Given the description of an element on the screen output the (x, y) to click on. 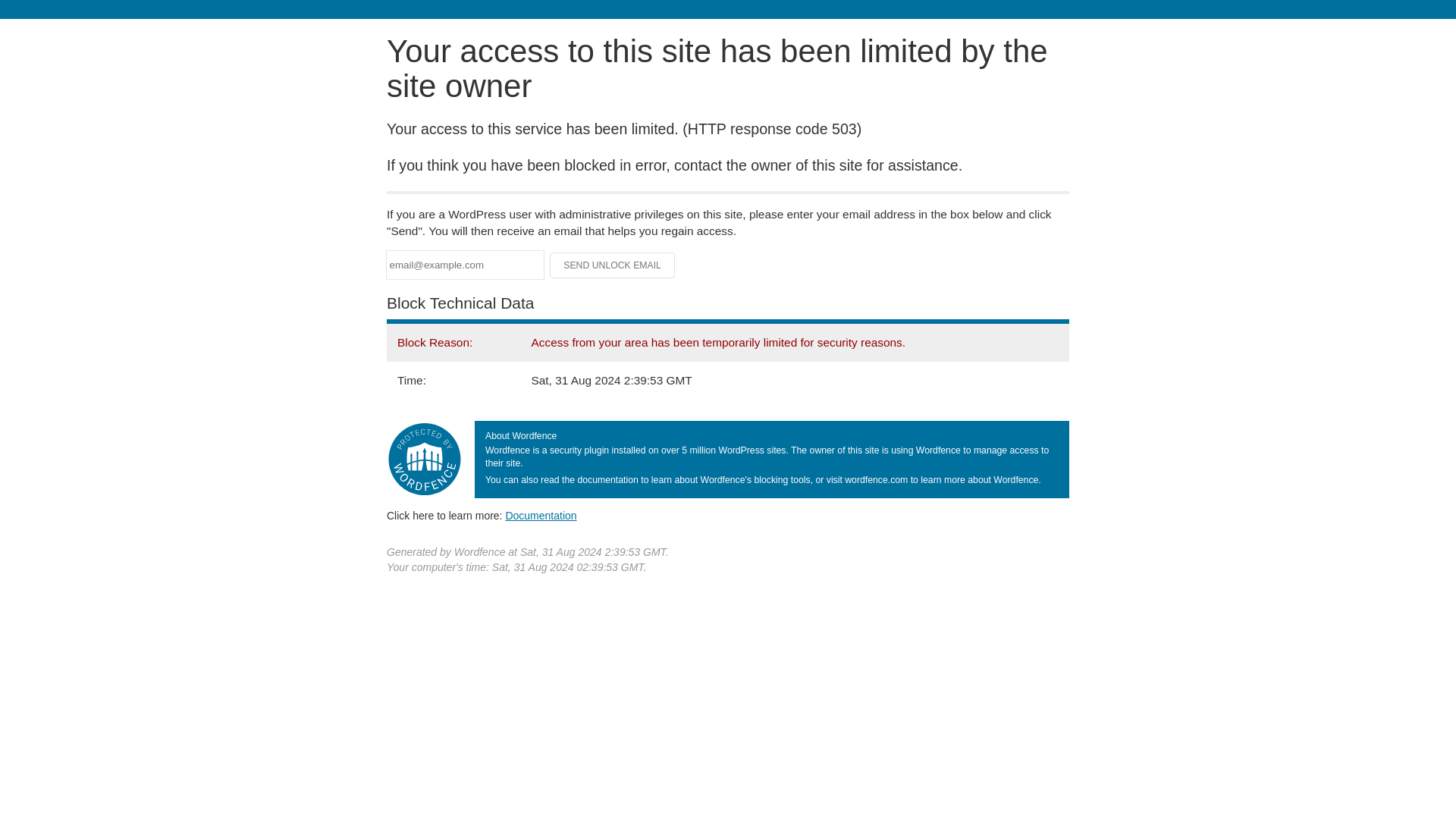
Send Unlock Email (612, 265)
Send Unlock Email (612, 265)
Documentation (540, 515)
